Given the description of an element on the screen output the (x, y) to click on. 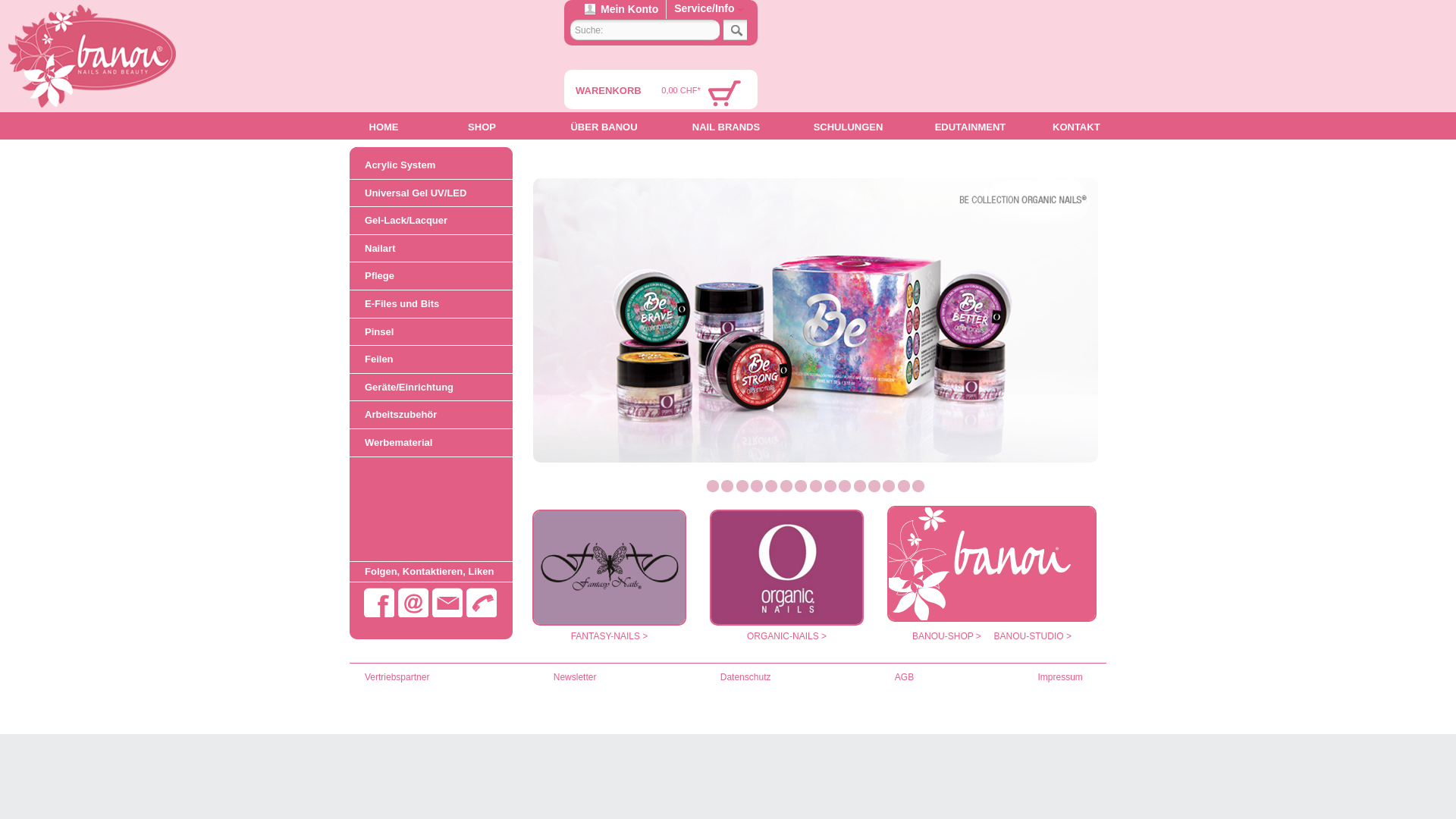
SHOP Element type: text (481, 125)
Warenkorb Element type: text (723, 88)
FANTASY-NAILS > Element type: text (609, 635)
Pinsel Element type: text (430, 331)
Suchen Element type: text (735, 29)
AGB Element type: text (903, 676)
HOME Element type: text (383, 125)
Impressum Element type: text (1059, 676)
Feilen Element type: text (430, 359)
WARENKORB Element type: text (608, 90)
SCHULUNGEN Element type: text (847, 125)
Telefon Element type: text (481, 601)
Newsletter Element type: text (574, 676)
Werbematerial Element type: text (430, 442)
ORGANIC-NAILS > Element type: text (786, 635)
KONTAKT Element type: text (1075, 125)
Datenschutz Element type: text (745, 676)
Banou Nails - Fantasy Nails - Organic Nails Element type: text (91, 55)
Facebook Element type: text (379, 601)
Universal Gel UV/LED Element type: text (430, 193)
Vertriebspartner Element type: text (396, 676)
Pflege Element type: text (430, 275)
Kontakt Element type: text (447, 601)
E-Files und Bits Element type: text (430, 303)
BANOU-STUDIO > Element type: text (1032, 635)
Gel-Lack/Lacquer Element type: text (430, 220)
Mein Konto Element type: text (621, 9)
Nailart Element type: text (430, 248)
BANOU-SHOP > Element type: text (946, 635)
NAIL BRANDS Element type: text (725, 125)
E-Mail Element type: text (413, 601)
EDUTAINMENT Element type: text (969, 125)
Acrylic System Element type: text (430, 164)
